Given the description of an element on the screen output the (x, y) to click on. 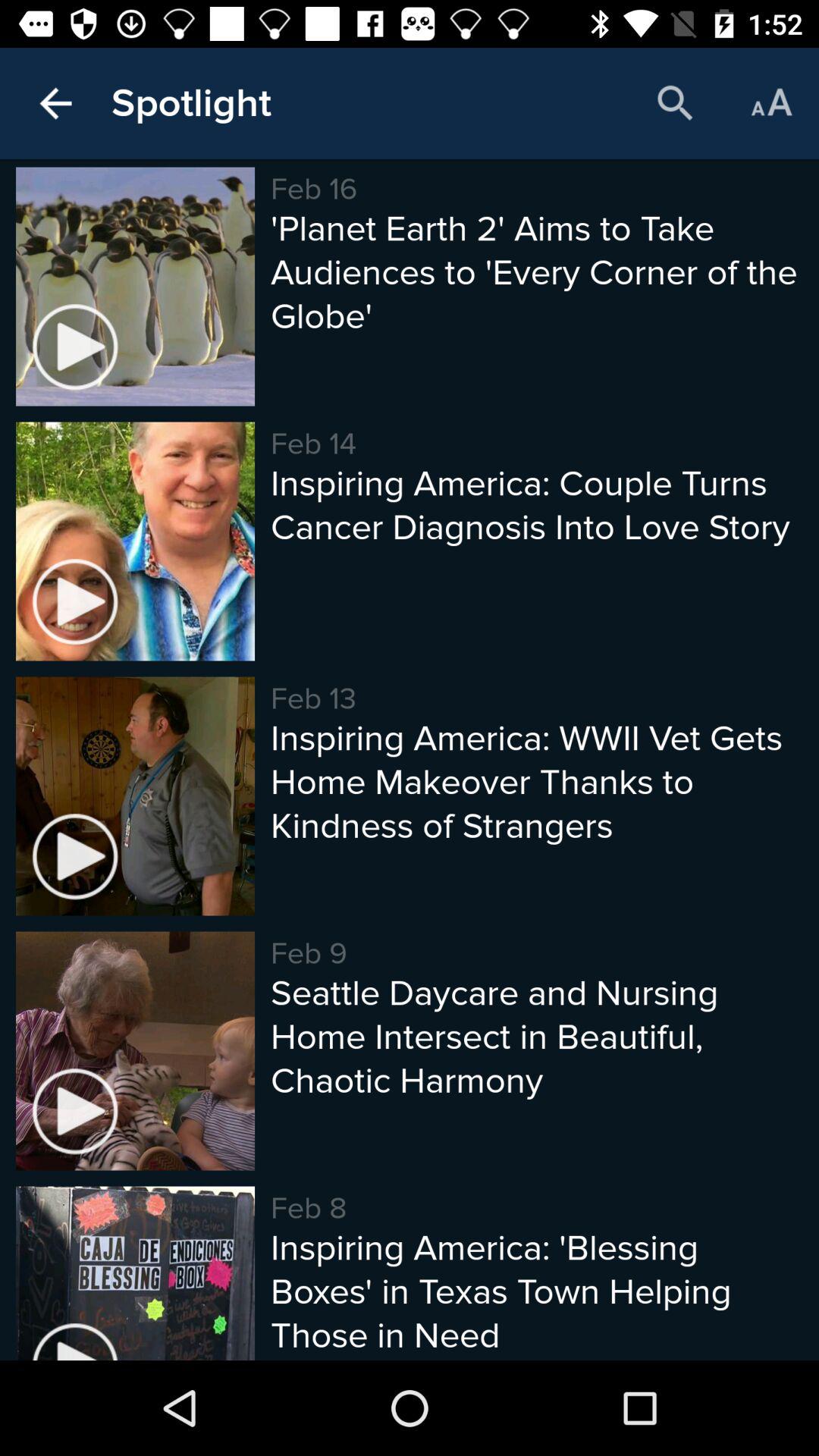
launch the icon above planet earth 2 item (771, 103)
